Given the description of an element on the screen output the (x, y) to click on. 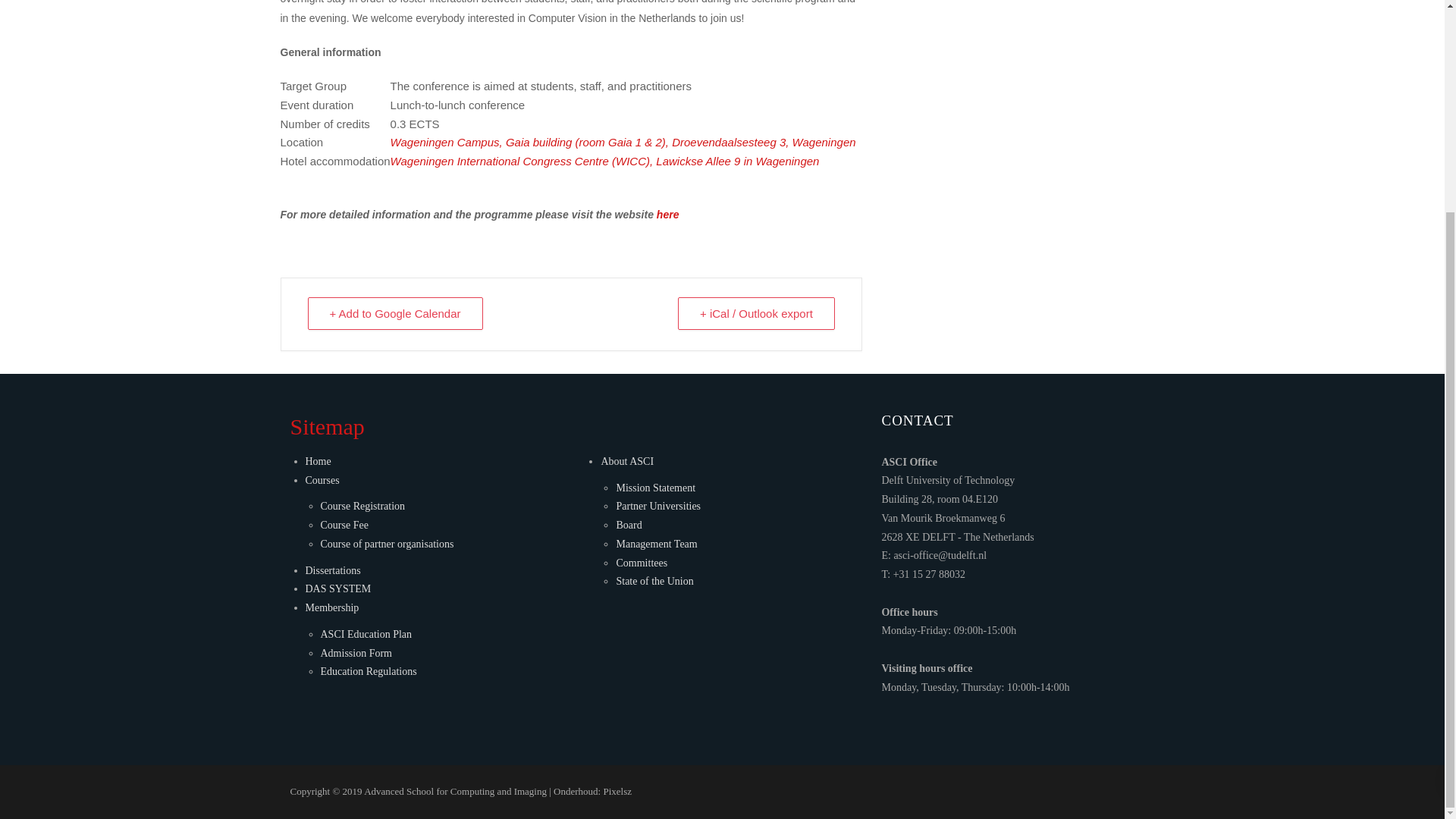
Wordpress website onderhoud (616, 790)
